Given the description of an element on the screen output the (x, y) to click on. 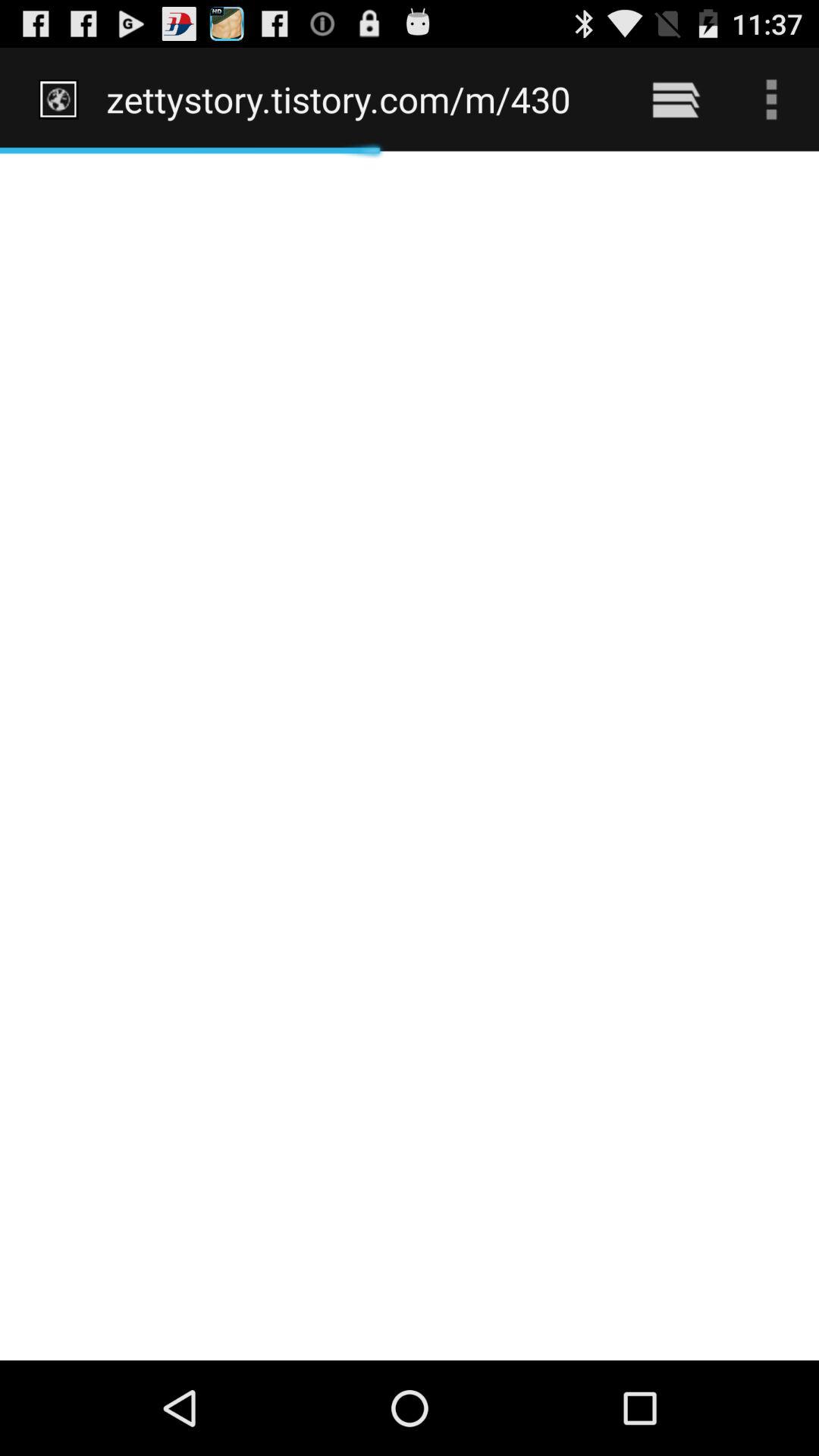
turn off icon at the center (409, 755)
